Given the description of an element on the screen output the (x, y) to click on. 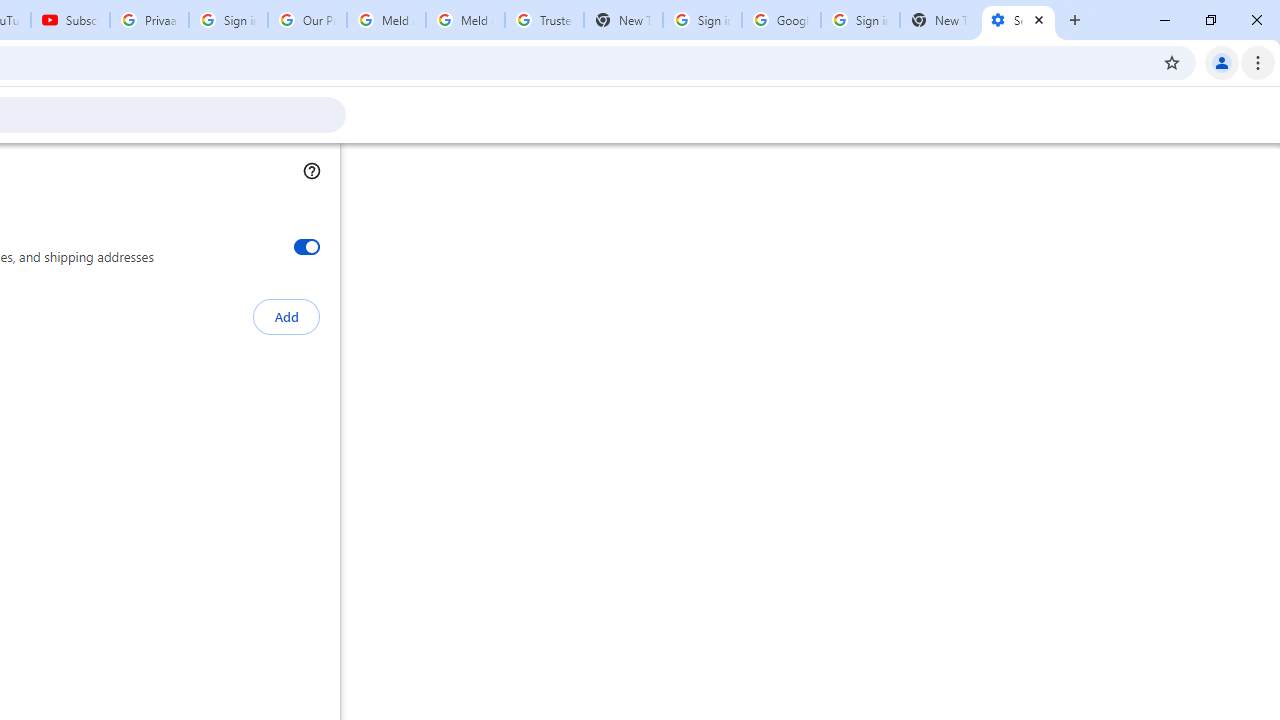
Sign in - Google Accounts (702, 20)
New Tab (939, 20)
Sign in - Google Accounts (228, 20)
Trusted Information and Content - Google Safety Center (544, 20)
Google Cybersecurity Innovations - Google Safety Center (781, 20)
Sign in - Google Accounts (859, 20)
Subscriptions - YouTube (70, 20)
